Given the description of an element on the screen output the (x, y) to click on. 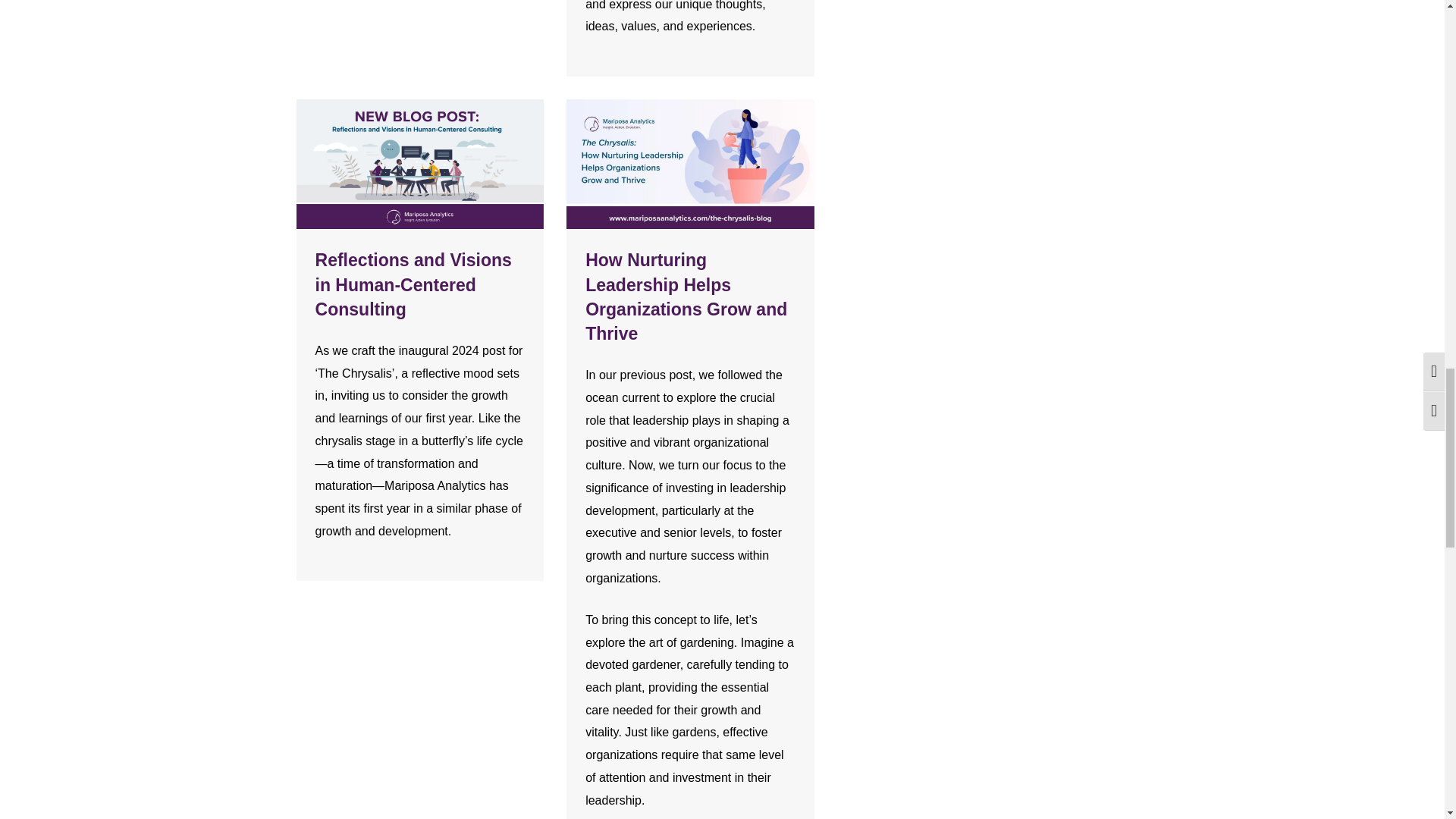
Reflections and Visions in Human-Centered Consulting (413, 284)
How Nurturing Leadership Helps Organizations Grow and Thrive (686, 296)
